Given the description of an element on the screen output the (x, y) to click on. 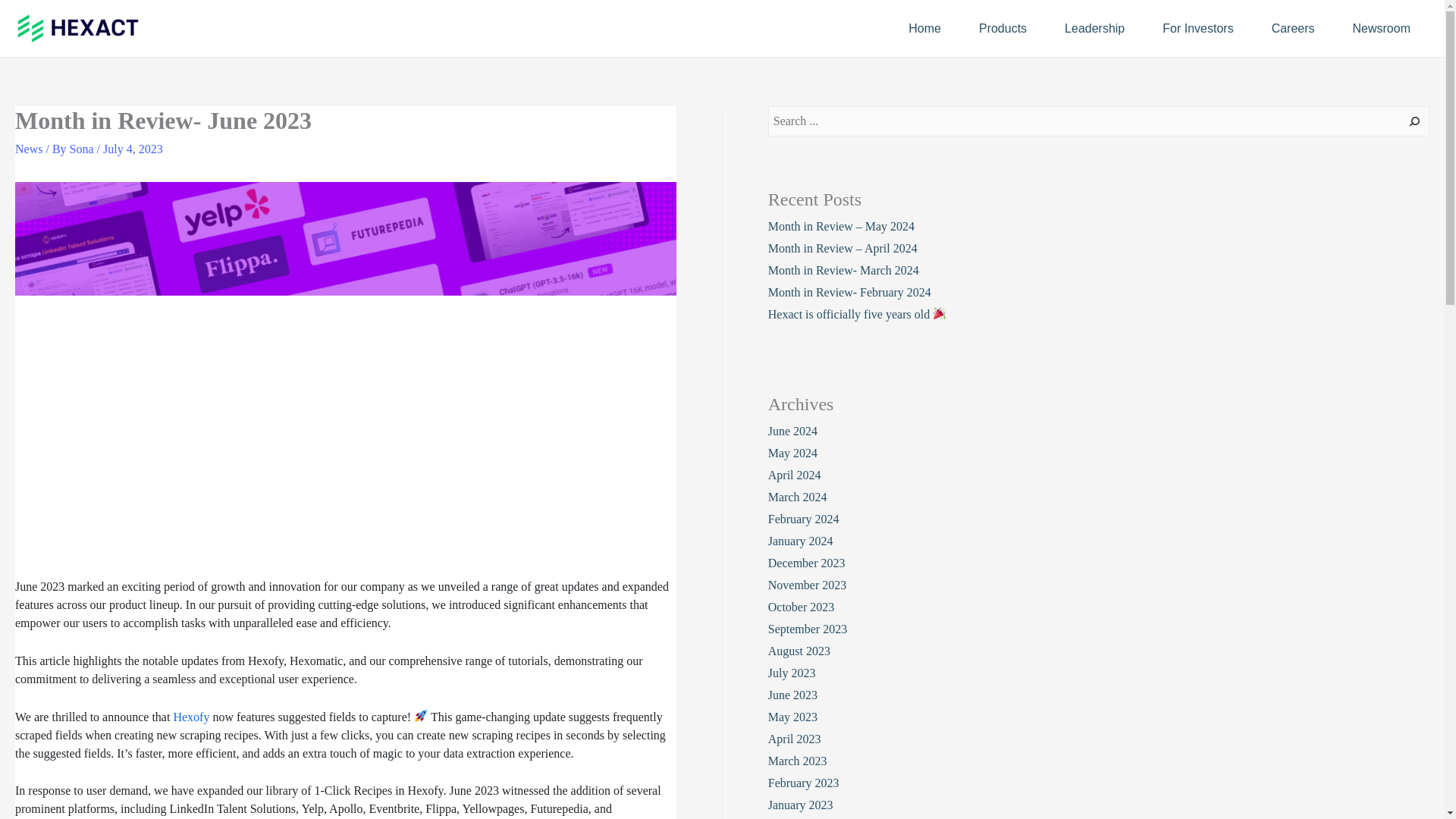
View all posts by Sona (83, 148)
Newsroom (1381, 27)
News (28, 148)
For Investors (1197, 27)
Home (924, 27)
Careers (1292, 27)
Hexofy (191, 716)
Leadership (1094, 27)
Products (1002, 27)
Sona (83, 148)
